Given the description of an element on the screen output the (x, y) to click on. 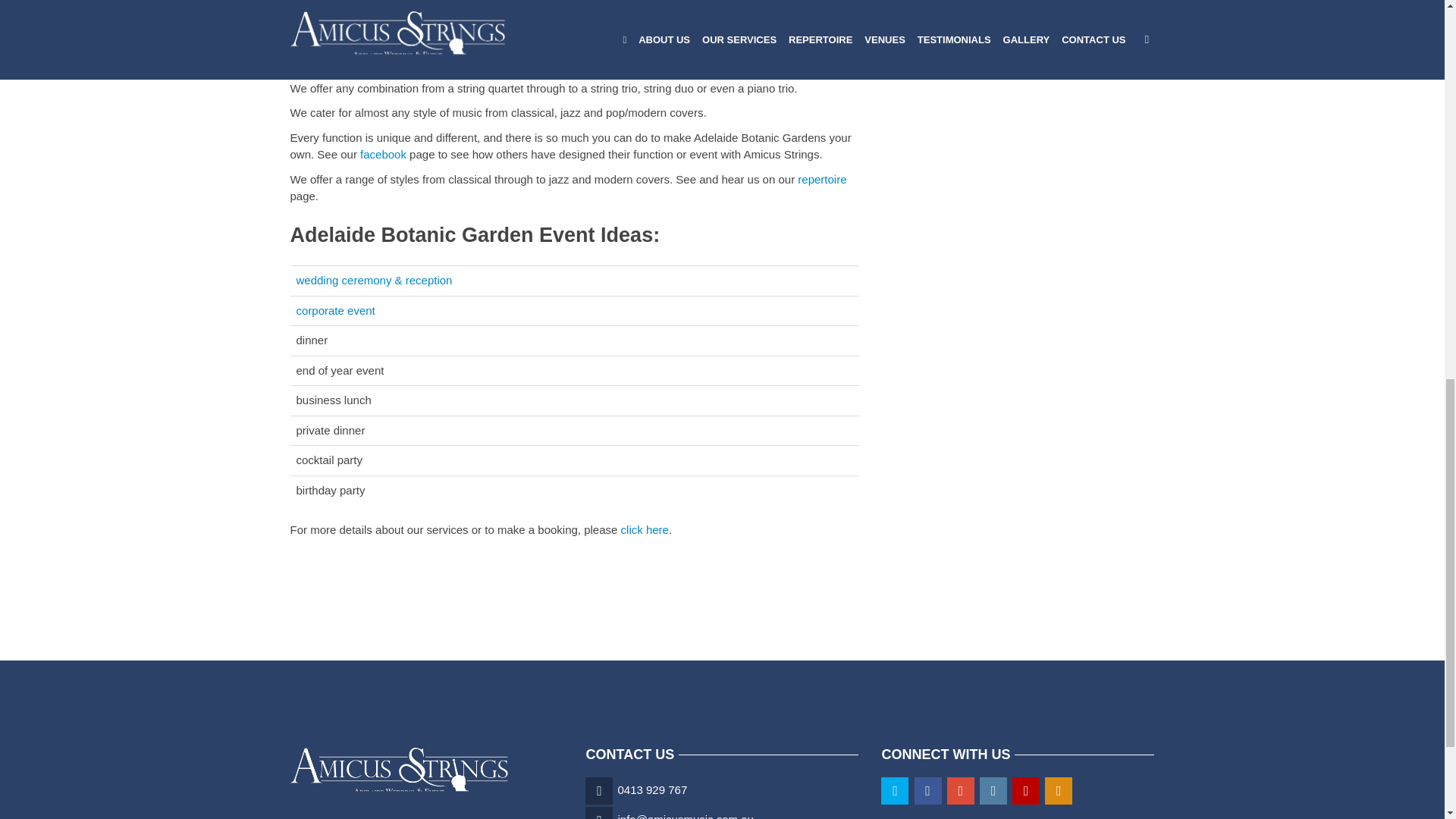
0413 929 767 (652, 789)
repertoire (821, 178)
corporate event (334, 309)
Repertoire (821, 178)
Facebook (382, 154)
facebook (382, 154)
click here (644, 529)
